Given the description of an element on the screen output the (x, y) to click on. 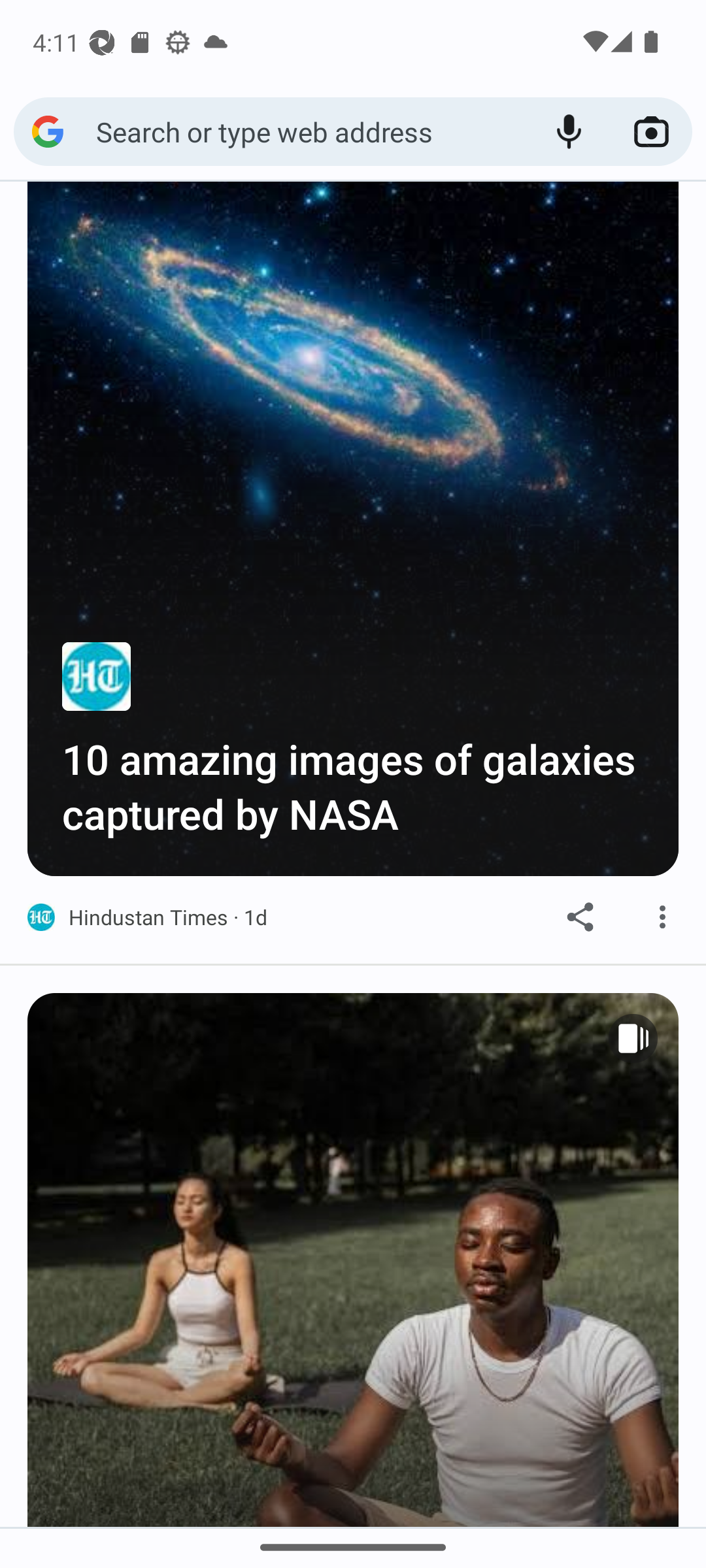
Start voice search (568, 131)
Search with your camera using Google Lens (650, 131)
Search or type web address (311, 131)
